Given the description of an element on the screen output the (x, y) to click on. 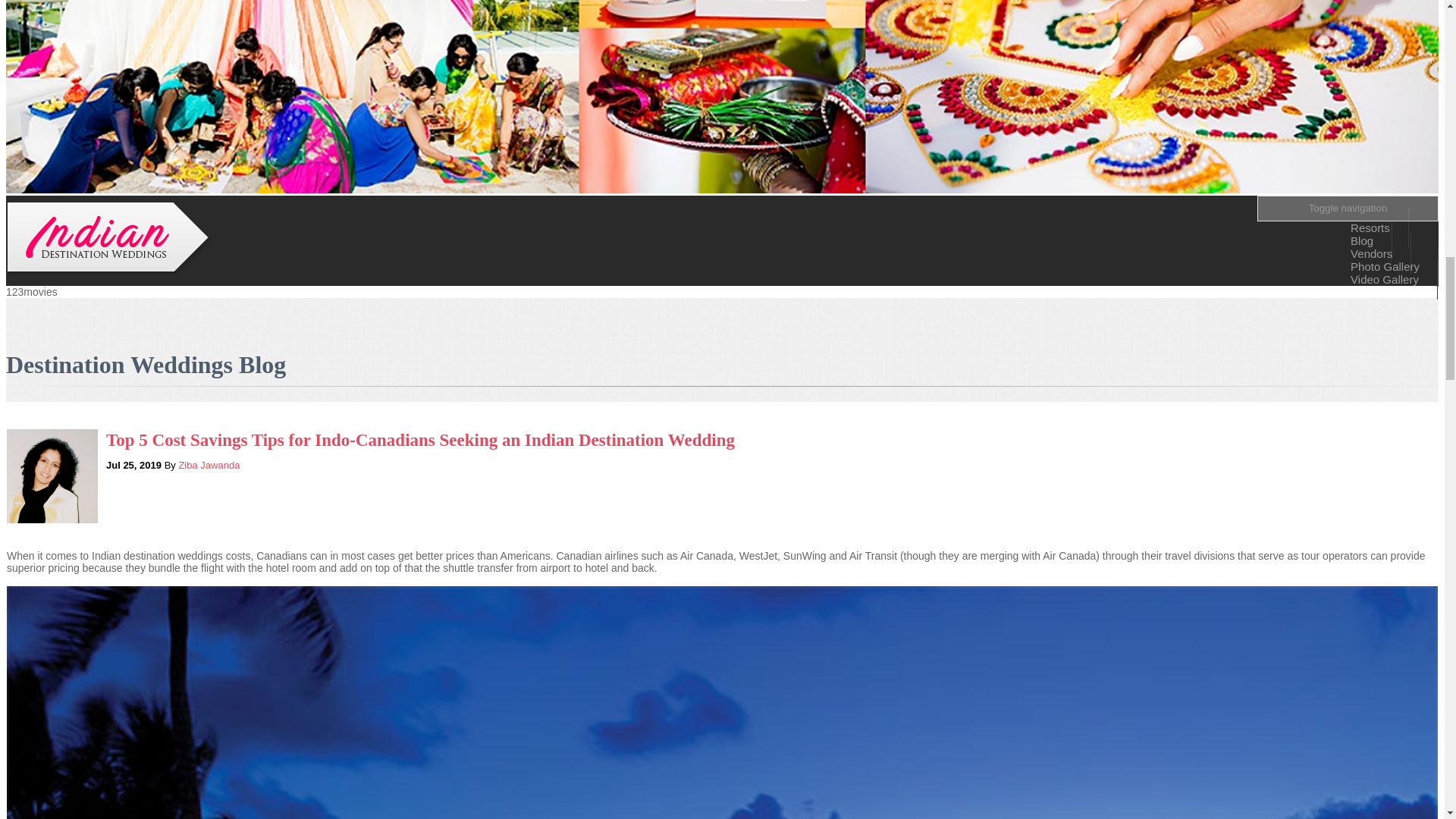
designation-logo (108, 238)
